Given the description of an element on the screen output the (x, y) to click on. 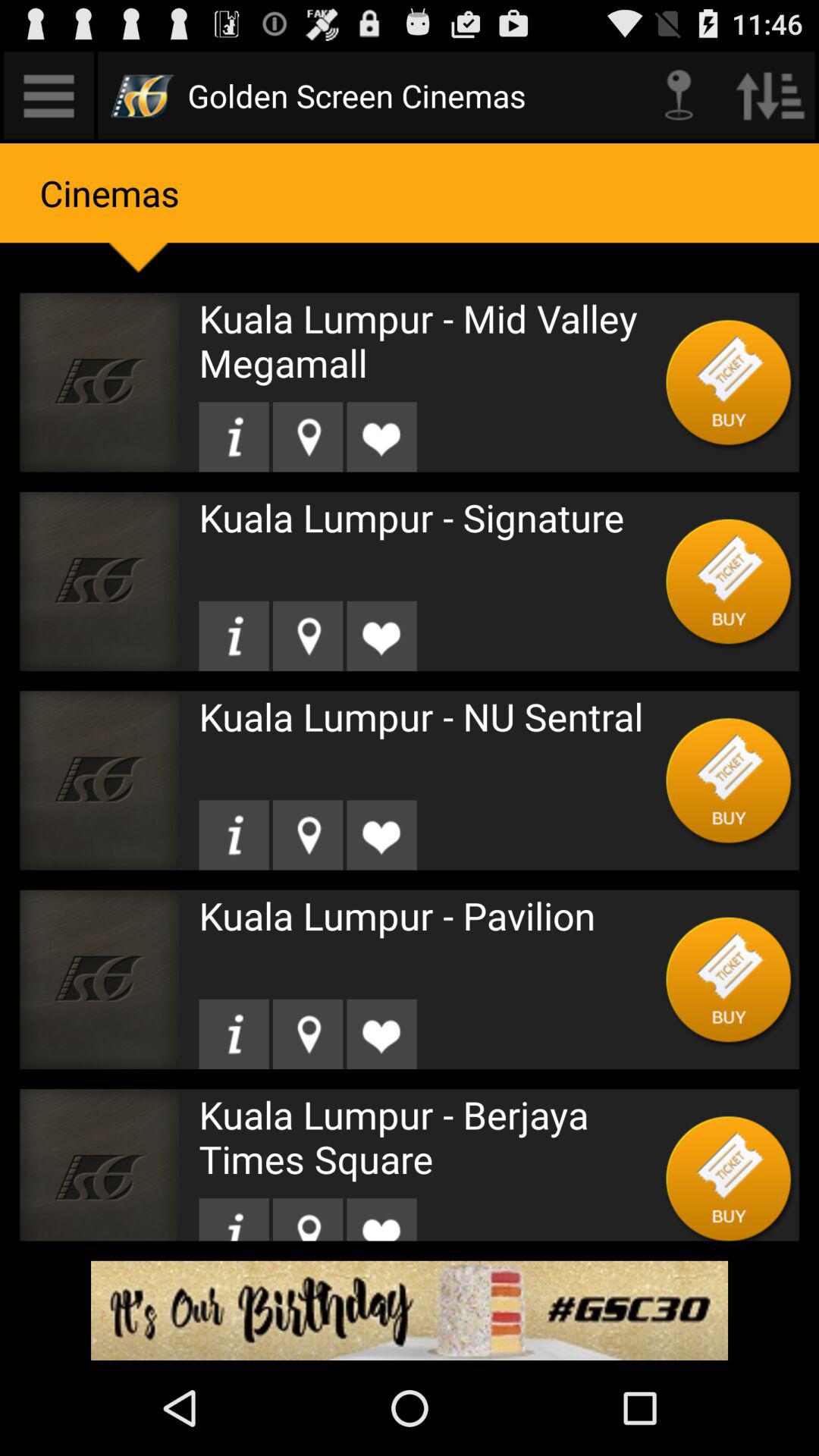
like it (381, 1219)
